Given the description of an element on the screen output the (x, y) to click on. 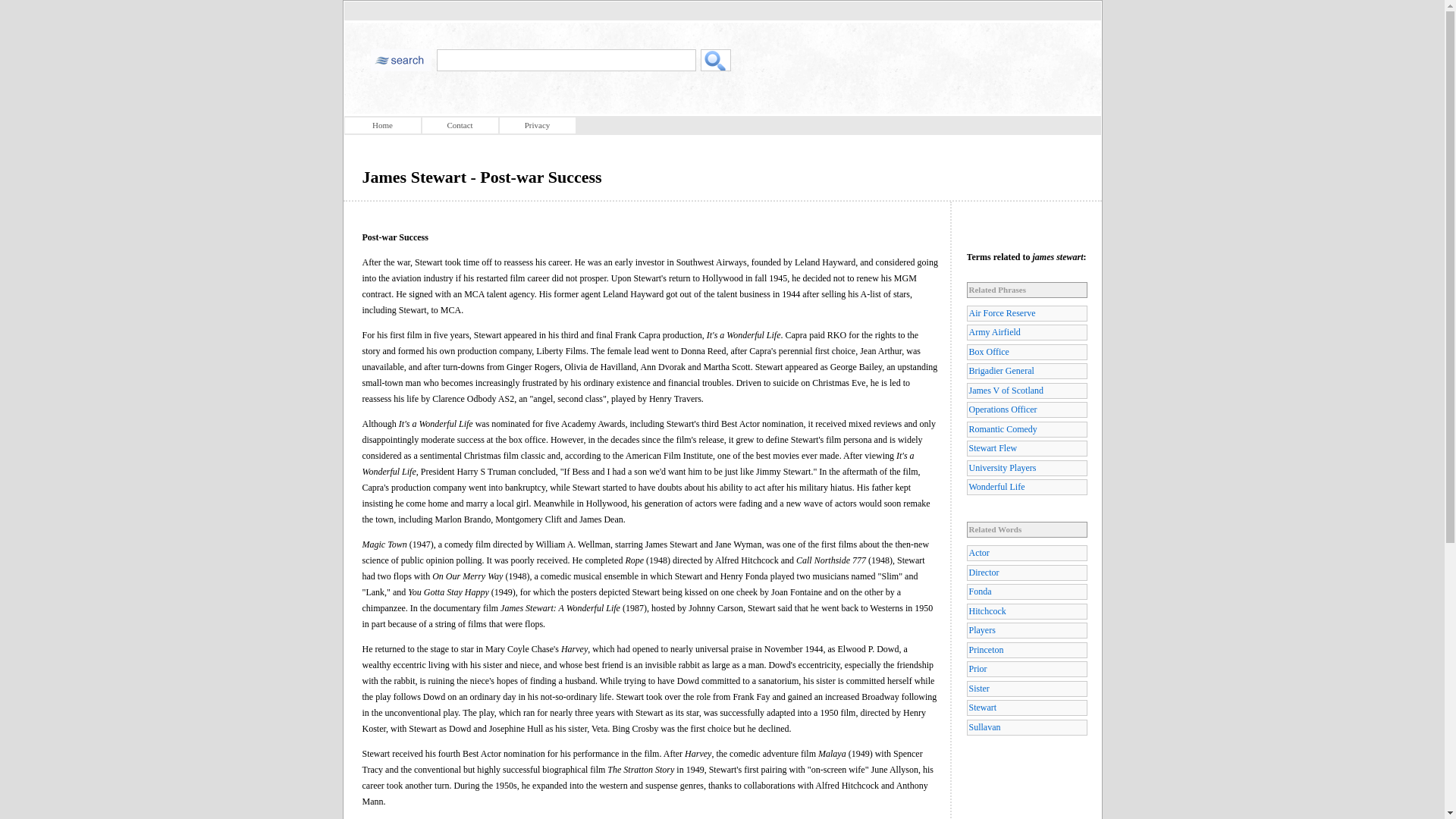
Army Airfield (1026, 332)
Home (381, 125)
Director (1026, 572)
Wonderful Life (1026, 487)
James V of Scotland (1026, 390)
Fonda (1026, 591)
Brigadier General (1026, 371)
Romantic Comedy (1026, 429)
Players (1026, 630)
Prior (1026, 668)
Air Force Reserve (1026, 313)
Operations Officer (1026, 409)
Stewart Flew (1026, 448)
Sullavan (1026, 727)
Sister (1026, 688)
